Given the description of an element on the screen output the (x, y) to click on. 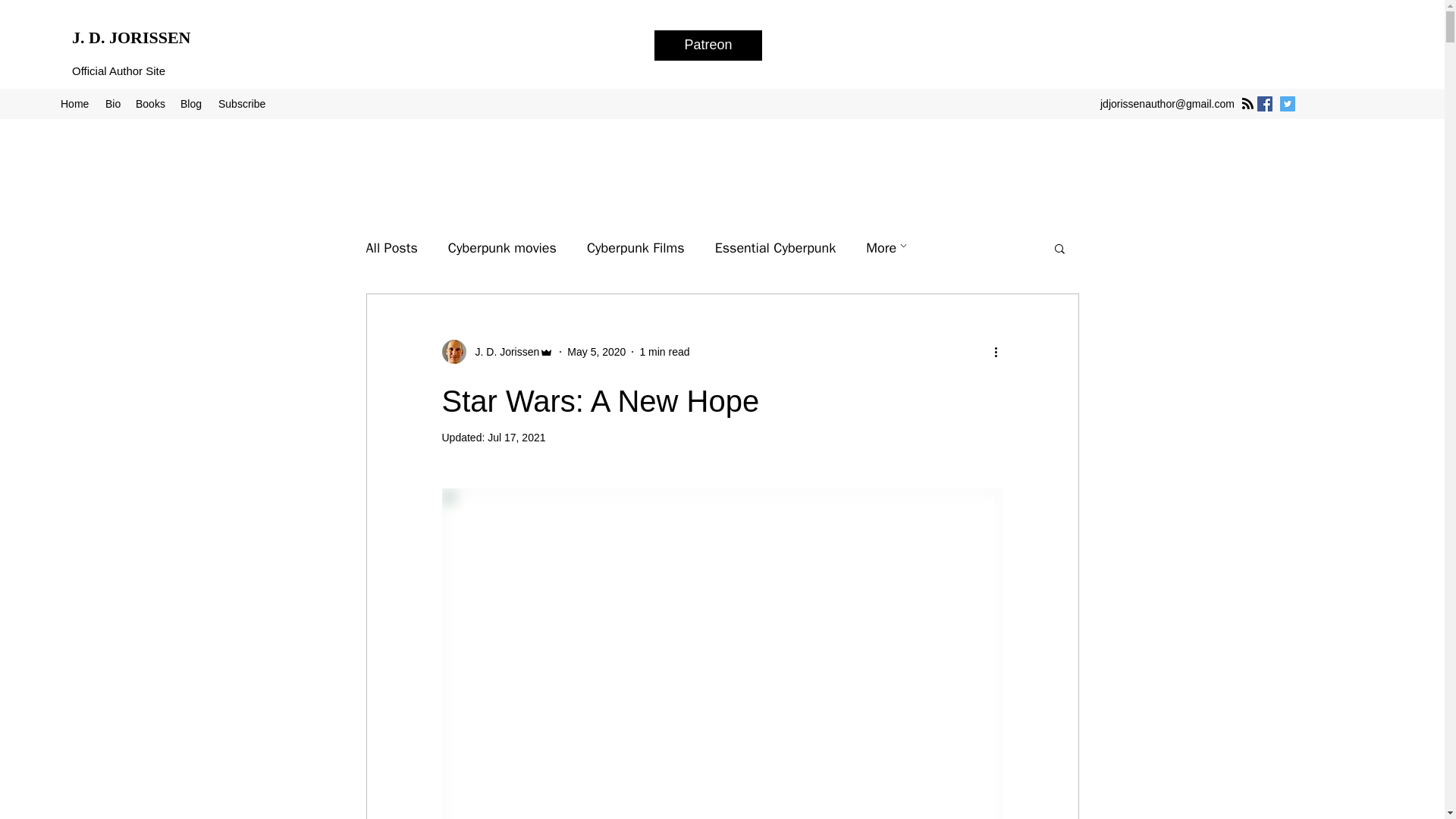
J. D. JORISSEN (130, 36)
Jul 17, 2021 (515, 437)
Patreon (707, 45)
Home (74, 103)
Blog (192, 103)
May 5, 2020 (596, 351)
Essential Cyberpunk (774, 248)
Books (150, 103)
J. D. Jorissen (497, 351)
Subscribe (243, 103)
Cyberpunk movies (502, 248)
All Posts (390, 248)
1 min read (663, 351)
J. D. Jorissen (501, 351)
Cyberpunk Films (635, 248)
